Given the description of an element on the screen output the (x, y) to click on. 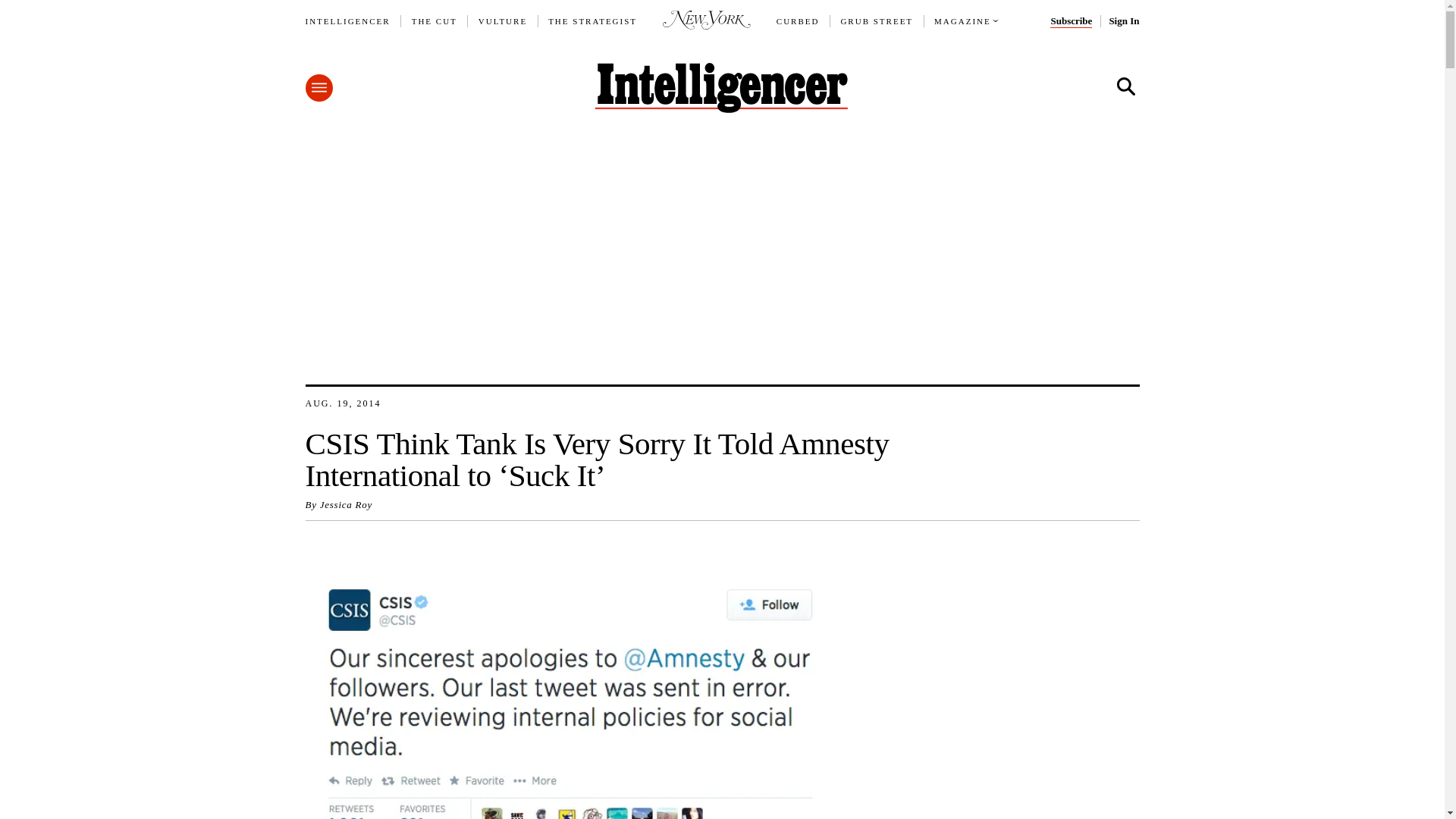
CURBED (797, 21)
Search (1124, 86)
Subscribe (1070, 21)
Menu (317, 87)
Search (1124, 86)
MAGAZINE (962, 21)
THE CUT (434, 21)
VULTURE (503, 21)
GRUB STREET (876, 21)
THE STRATEGIST (592, 21)
